Given the description of an element on the screen output the (x, y) to click on. 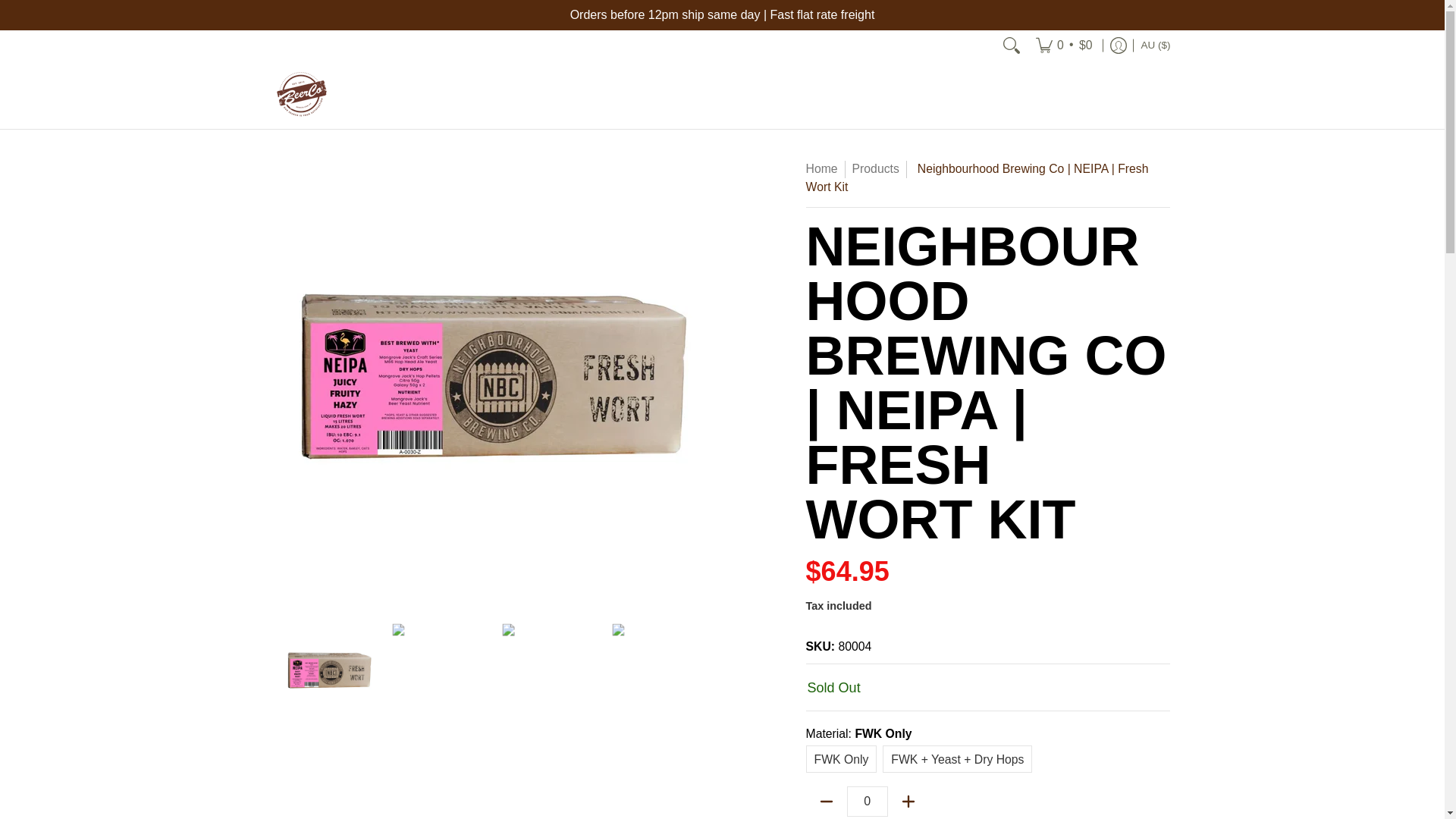
CV (966, 240)
Search (1011, 45)
Log in (1118, 45)
BF (972, 57)
BG (961, 20)
Cart (1064, 45)
BI (958, 94)
CM (965, 167)
0 (867, 801)
KH (960, 130)
CA (955, 203)
FWK Only (841, 759)
Skip to Main Content (1, 8)
Skip to Main Content (1, 8)
BeerCo.com.au (301, 94)
